Given the description of an element on the screen output the (x, y) to click on. 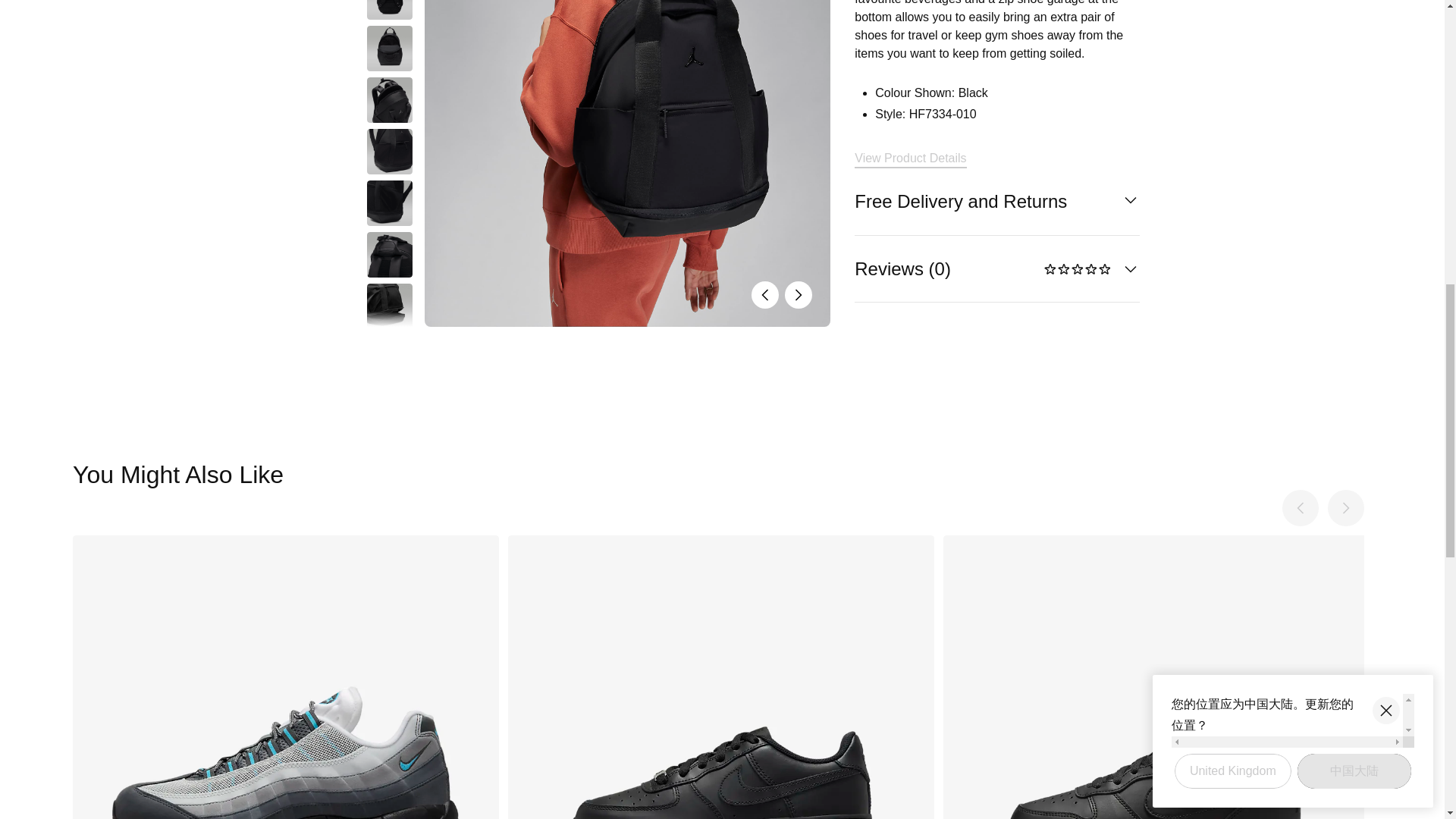
Nike Air Force 1 LE (721, 677)
No Stars (1077, 269)
Nike Court Borough Low Recraft (1156, 677)
Nike Air Max 95 (285, 677)
